Given the description of an element on the screen output the (x, y) to click on. 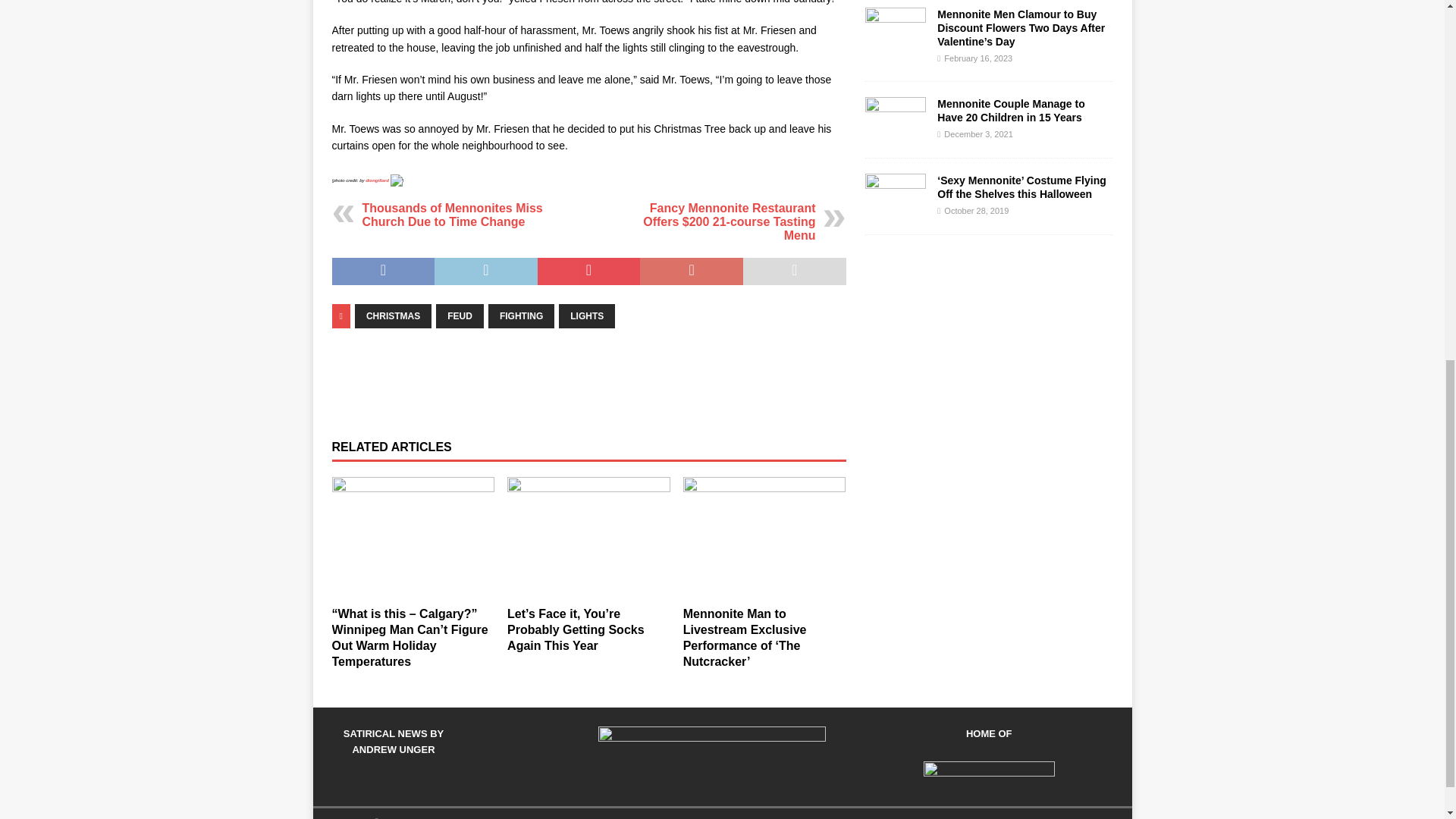
Thousands of Mennonites Miss Church Due to Time Change (452, 214)
diongillard (376, 180)
CHRISTMAS (392, 315)
LIGHTS (586, 315)
FIGHTING (520, 315)
FEUD (459, 315)
Attribution License (396, 180)
